Given the description of an element on the screen output the (x, y) to click on. 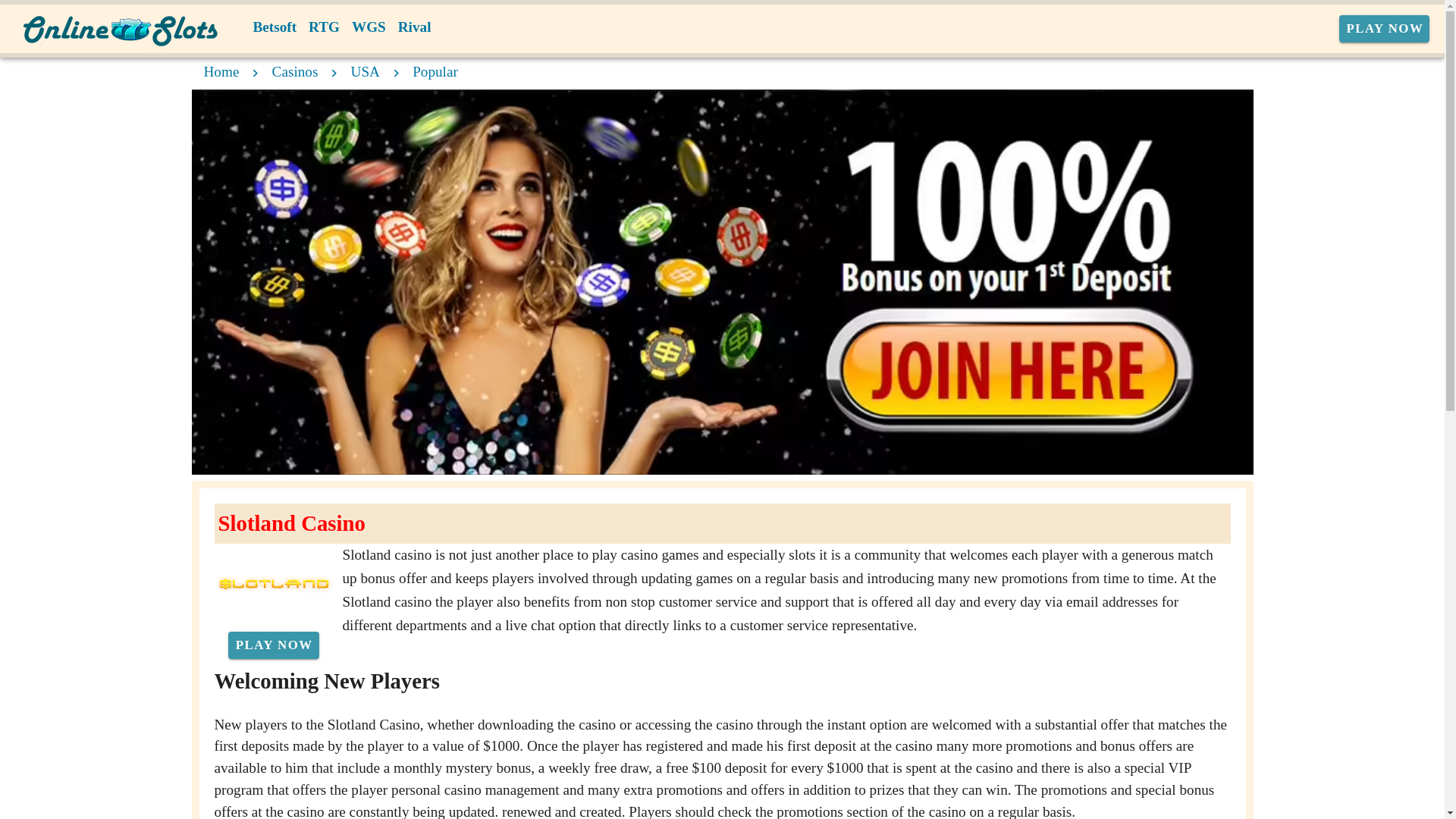
PLAY NOW (1384, 28)
USA (365, 71)
Popular (435, 71)
Betsoft (274, 27)
PLAY NOW (273, 645)
Rival (414, 27)
RTG (324, 27)
Home (220, 71)
WGS (368, 27)
Casinos (295, 71)
